Given the description of an element on the screen output the (x, y) to click on. 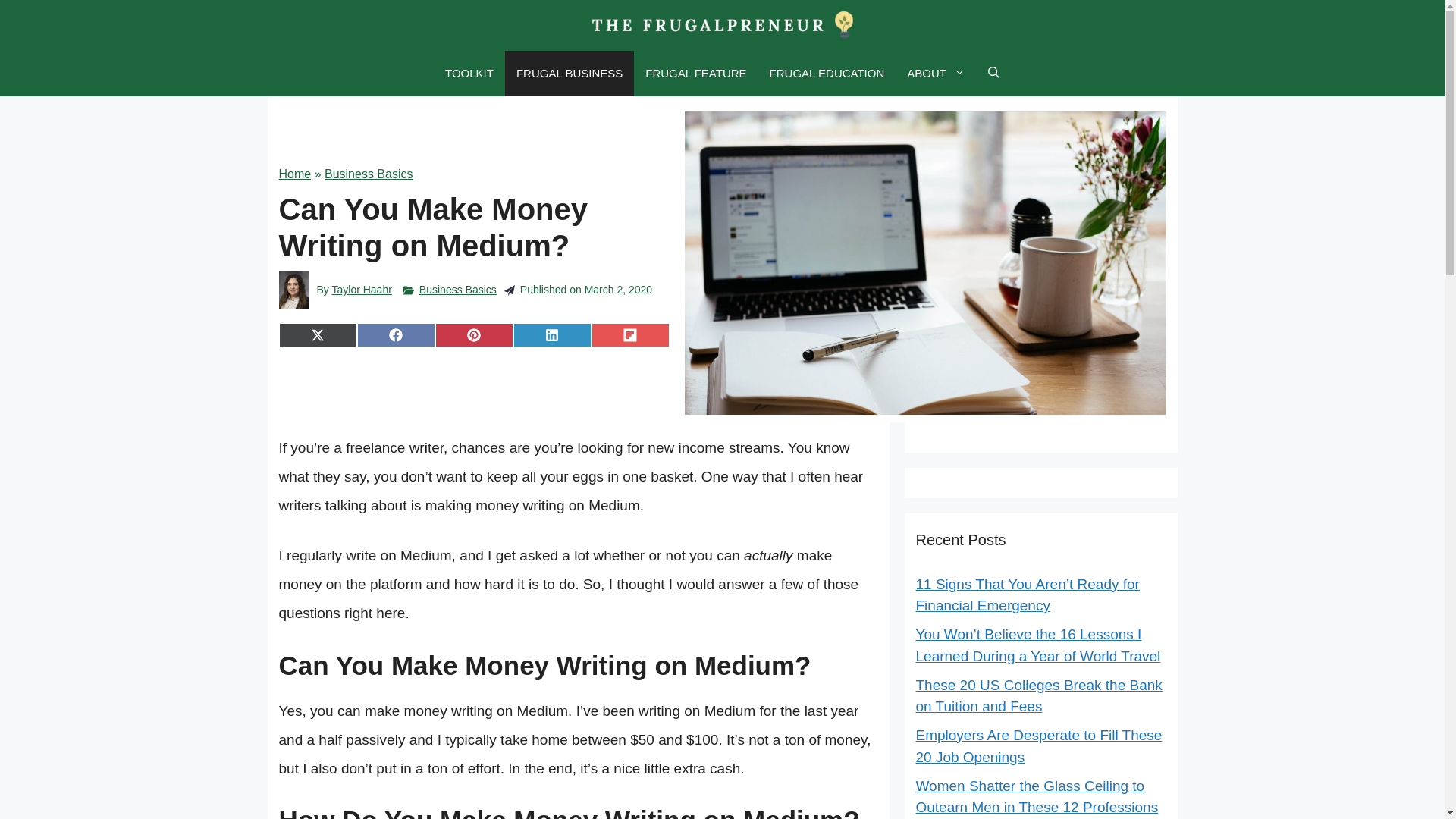
Business Basics (457, 289)
ABOUT (935, 73)
Share on Facebook (395, 334)
Home (295, 173)
FRUGAL EDUCATION (827, 73)
FRUGAL FEATURE (695, 73)
TOOLKIT (469, 73)
Business Basics (368, 173)
Share on Flip it (630, 334)
FRUGAL BUSINESS (569, 73)
